Given the description of an element on the screen output the (x, y) to click on. 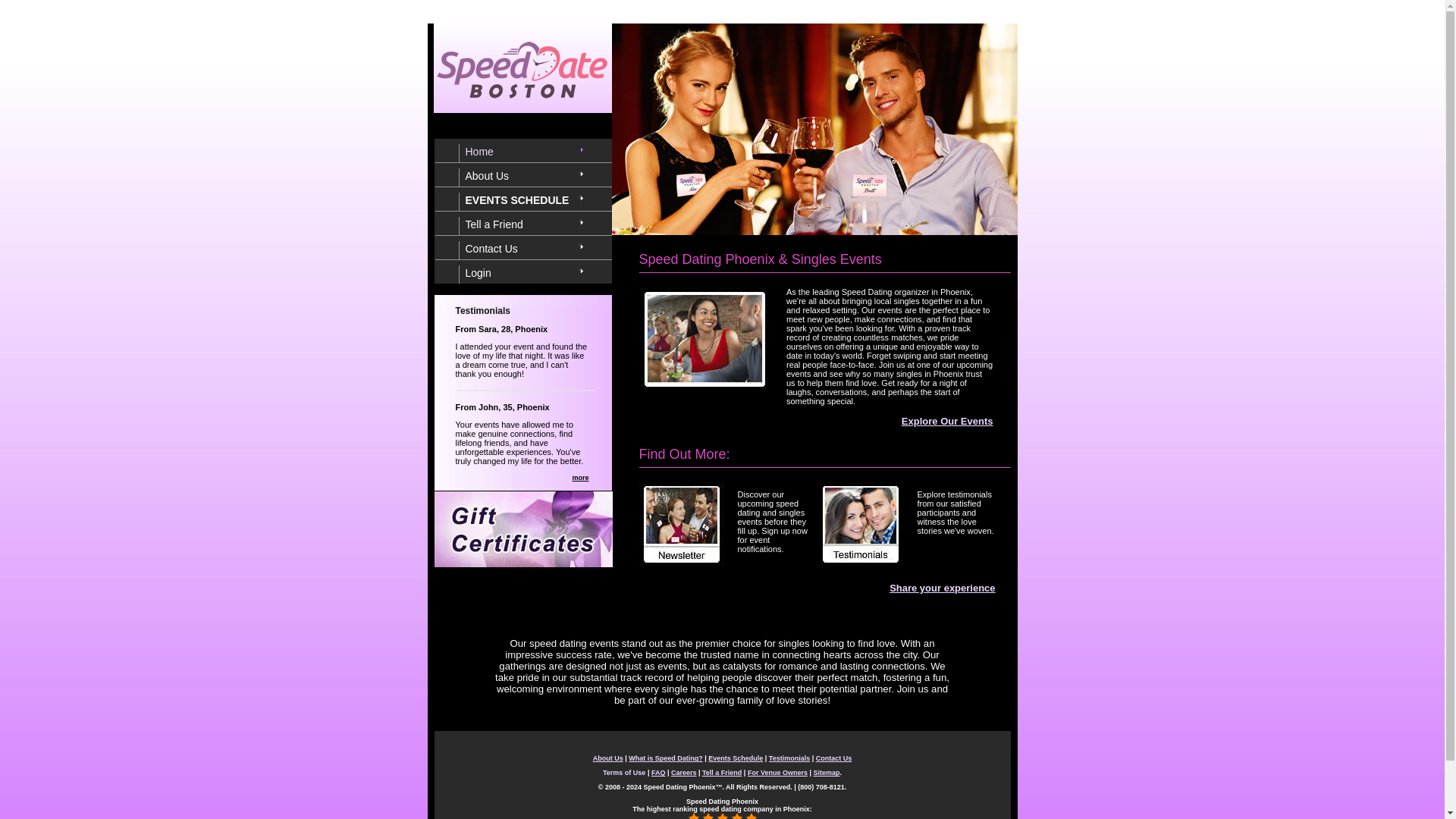
Explore Our Events (946, 420)
EVENTS SCHEDULE (530, 201)
Login (530, 274)
Testimonials (788, 758)
Contact Us (530, 249)
more (580, 477)
For Venue Owners (778, 772)
Tell a Friend (530, 226)
Contact Us (833, 758)
Testimonials about Speed Dating Phoenix. (861, 519)
